Given the description of an element on the screen output the (x, y) to click on. 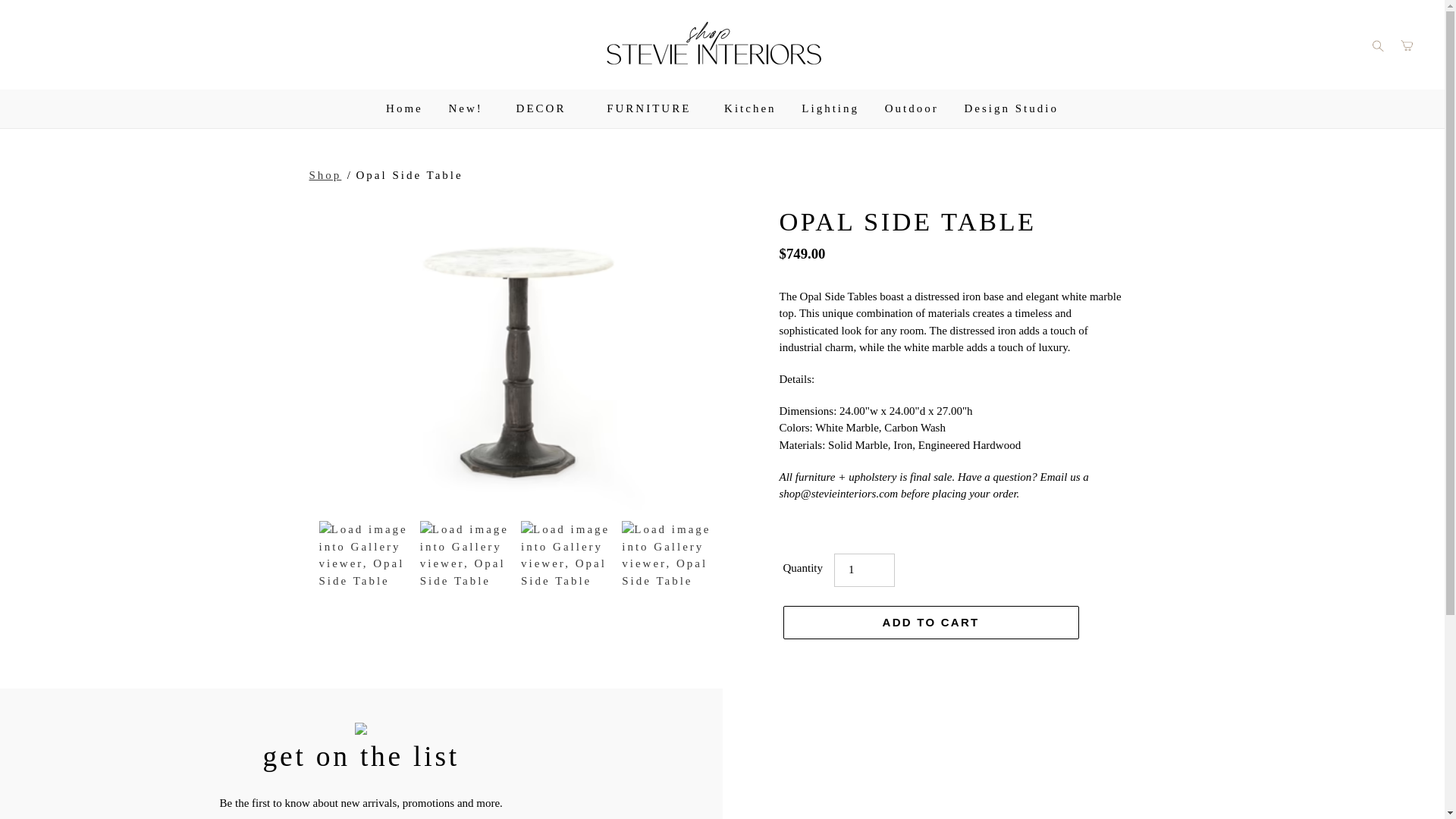
Cart (1406, 44)
1 (864, 570)
SEARCH (1376, 43)
